Given the description of an element on the screen output the (x, y) to click on. 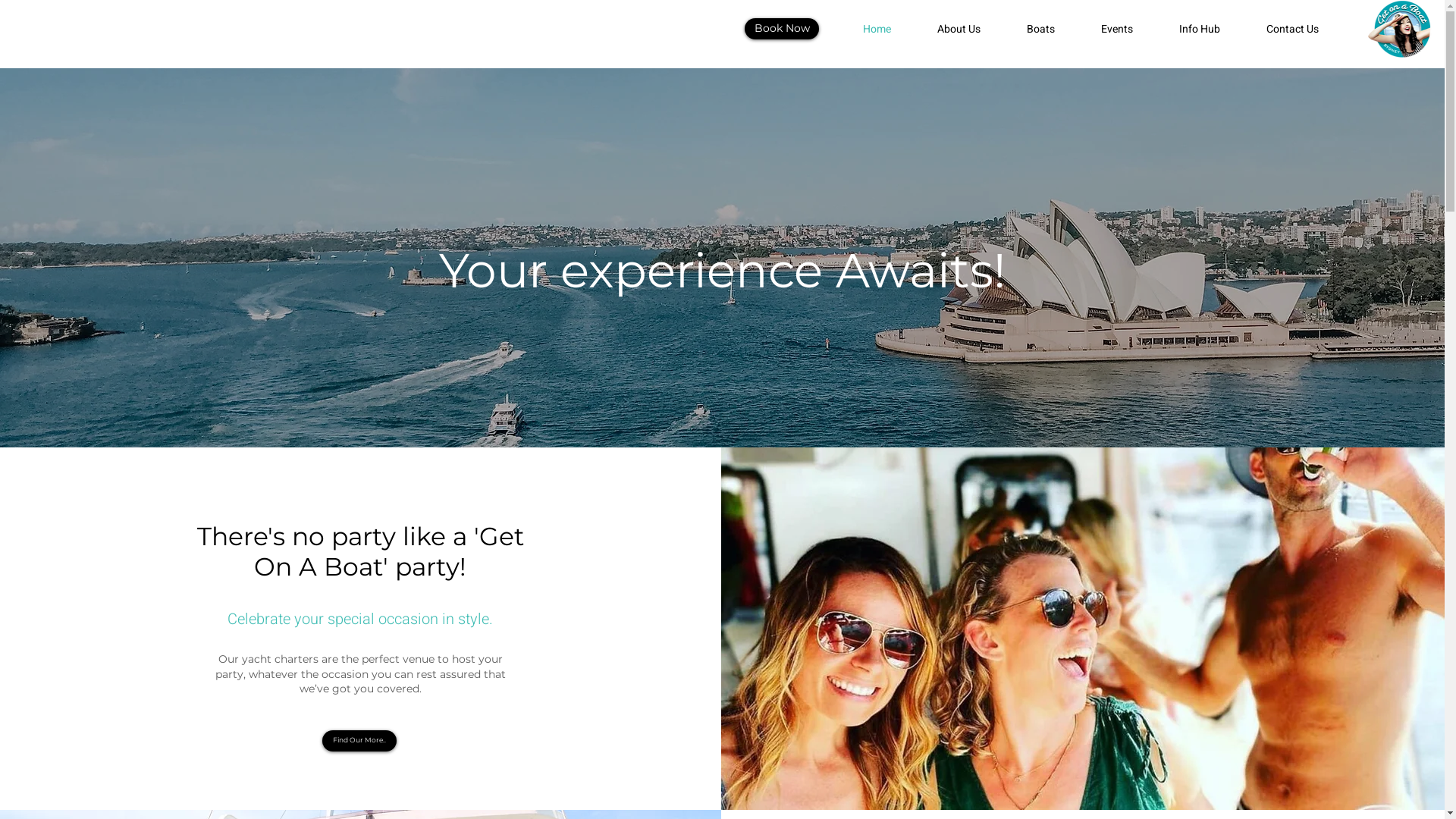
Home Element type: text (888, 28)
Find Our More.. Element type: text (359, 740)
Events Element type: text (1128, 28)
Info Hub Element type: text (1211, 28)
Book Now Element type: text (781, 28)
About Us Element type: text (970, 28)
Boats Element type: text (1052, 28)
Contact Us Element type: text (1303, 28)
